Given the description of an element on the screen output the (x, y) to click on. 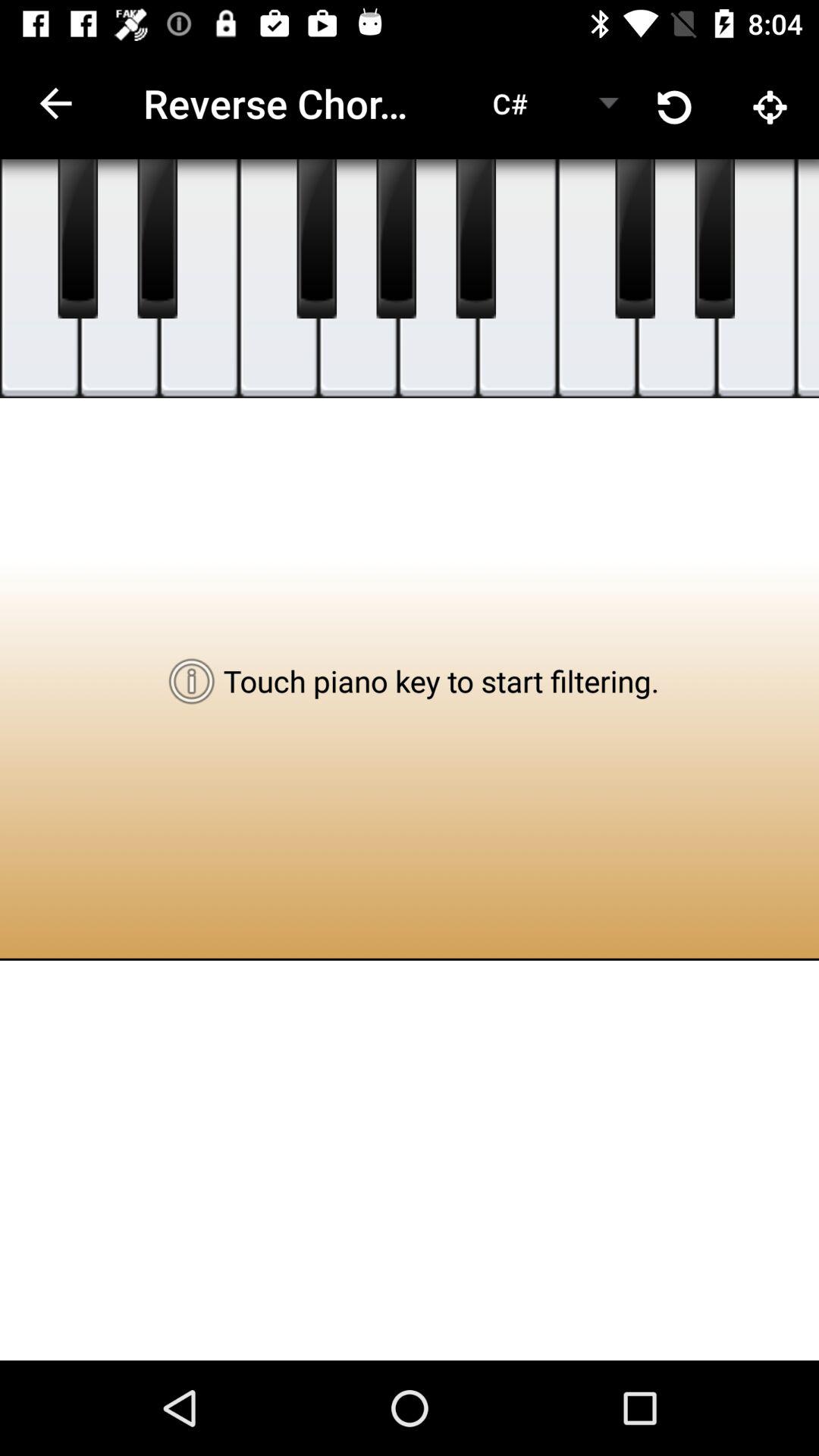
touch piano key (358, 278)
